Given the description of an element on the screen output the (x, y) to click on. 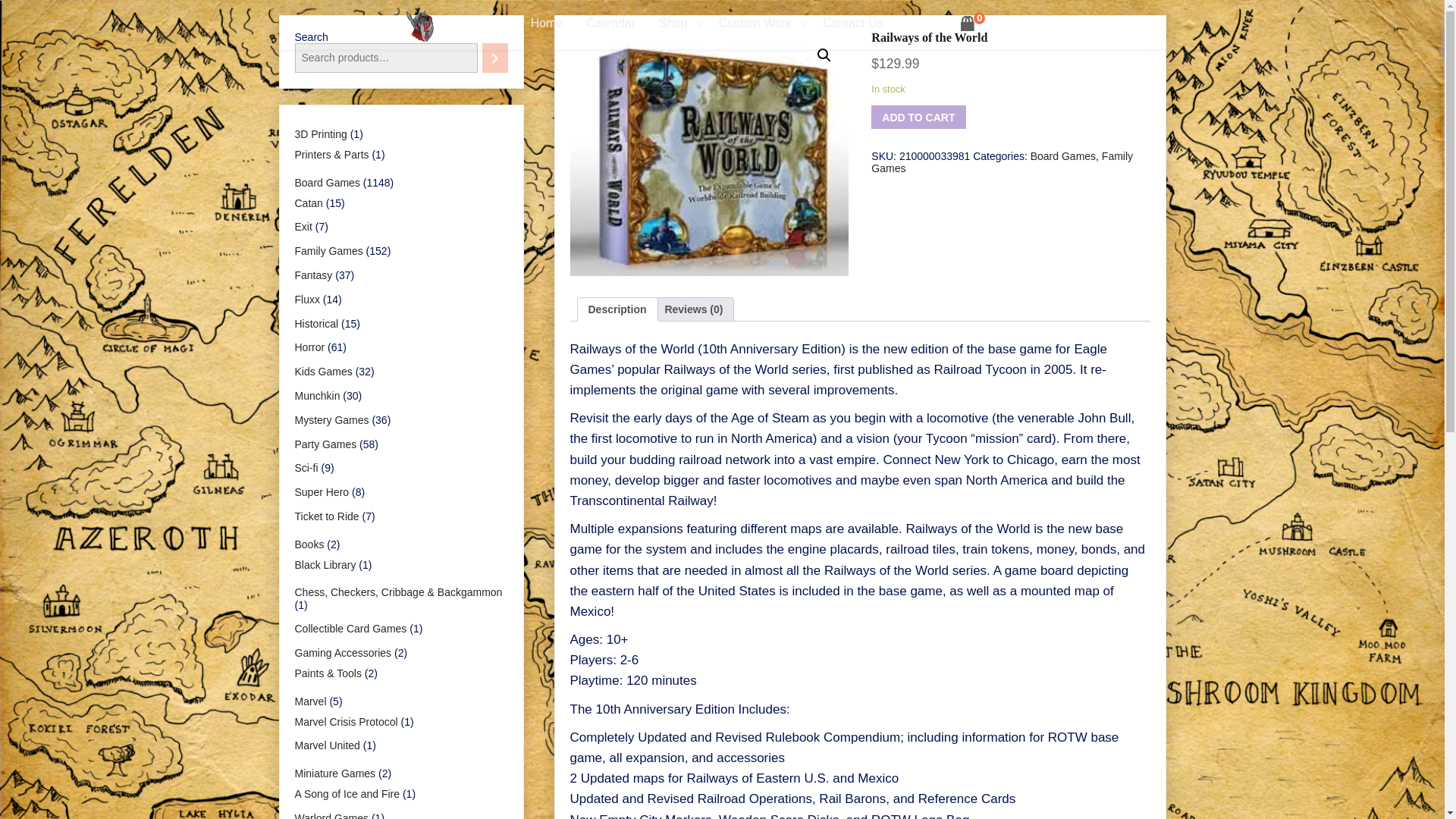
Description (617, 309)
Railways of the World (709, 153)
Custom Work (759, 24)
ADD TO CART (917, 116)
Shop (676, 24)
Family Games (1001, 161)
Board Games (1063, 155)
Contact Us (852, 24)
Home (547, 24)
Calendar (611, 24)
